Given the description of an element on the screen output the (x, y) to click on. 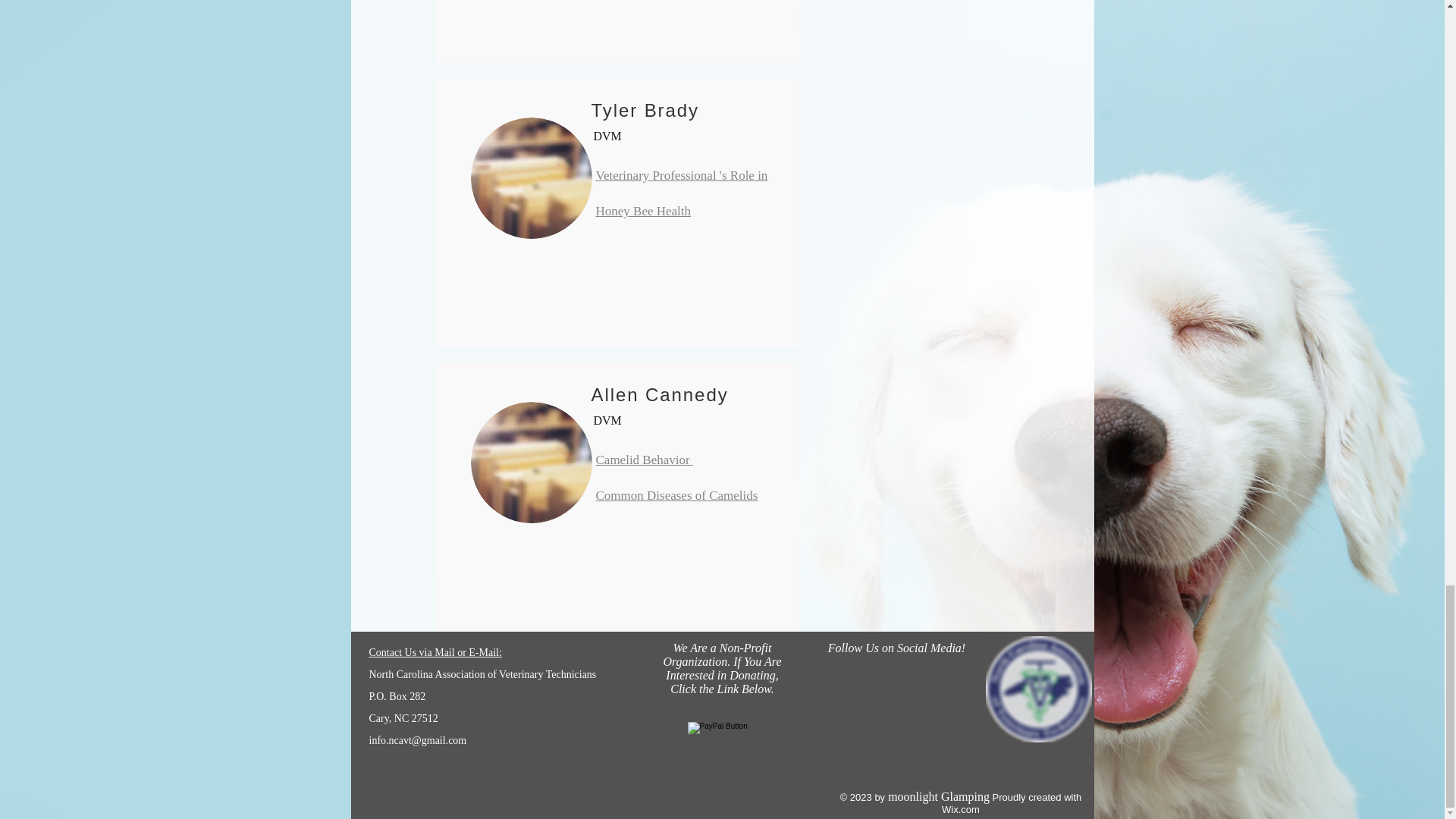
Common Diseases of Camelids (676, 488)
Camelid Behavior  (644, 452)
